Given the description of an element on the screen output the (x, y) to click on. 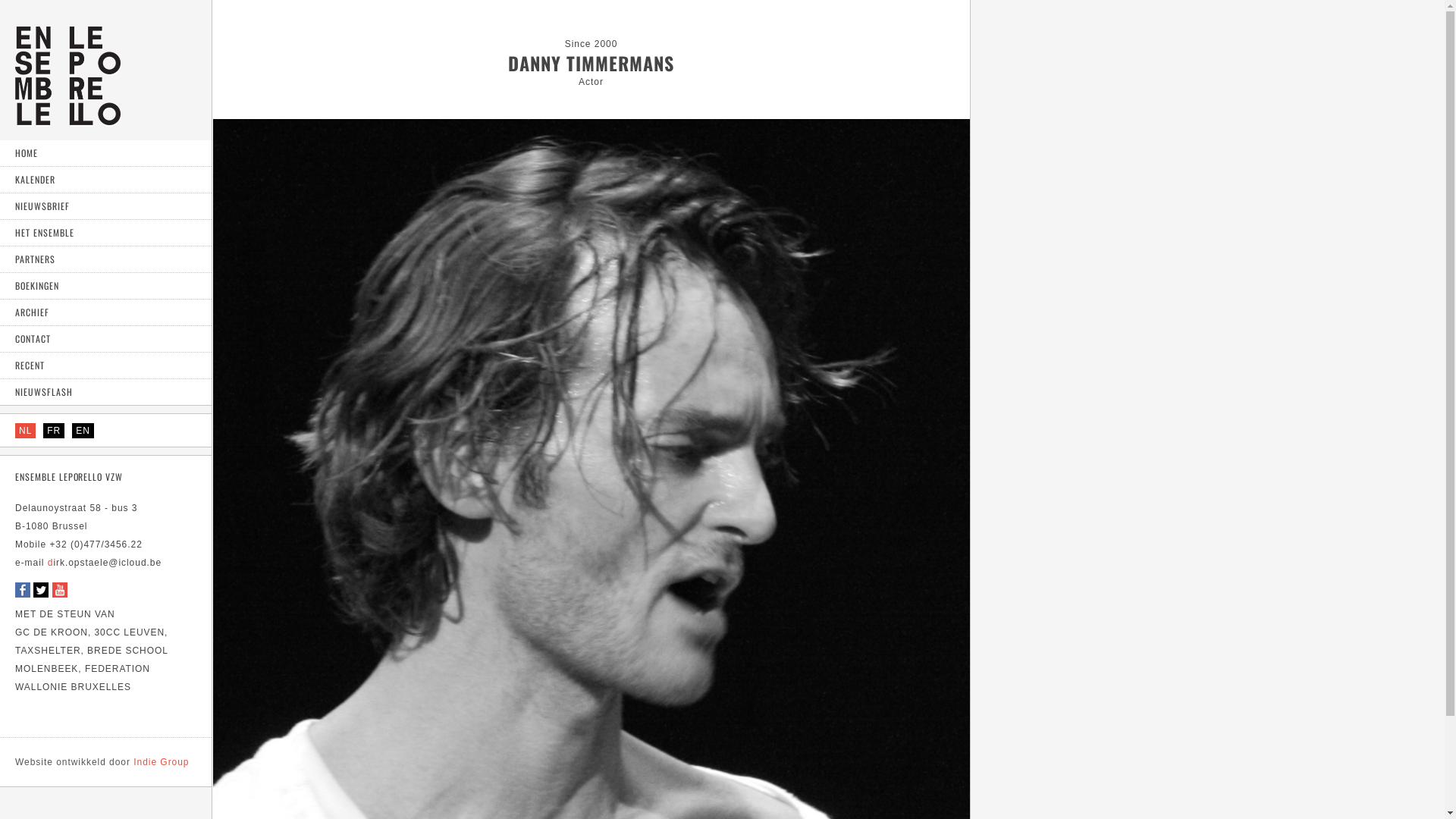
d Element type: text (50, 562)
PARTNERS Element type: text (105, 259)
HOME Element type: text (105, 153)
Home Element type: hover (67, 119)
RECENT Element type: text (105, 365)
NIEUWSBRIEF Element type: text (105, 206)
FR Element type: text (53, 430)
KALENDER Element type: text (105, 179)
Website ontwikkeld door Indie Group Element type: text (102, 761)
NL Element type: text (25, 430)
CONTACT Element type: text (105, 339)
EN Element type: text (83, 430)
NIEUWSFLASH Element type: text (105, 392)
ARCHIEF Element type: text (105, 312)
HET ENSEMBLE Element type: text (105, 232)
BOEKINGEN Element type: text (105, 286)
